Given the description of an element on the screen output the (x, y) to click on. 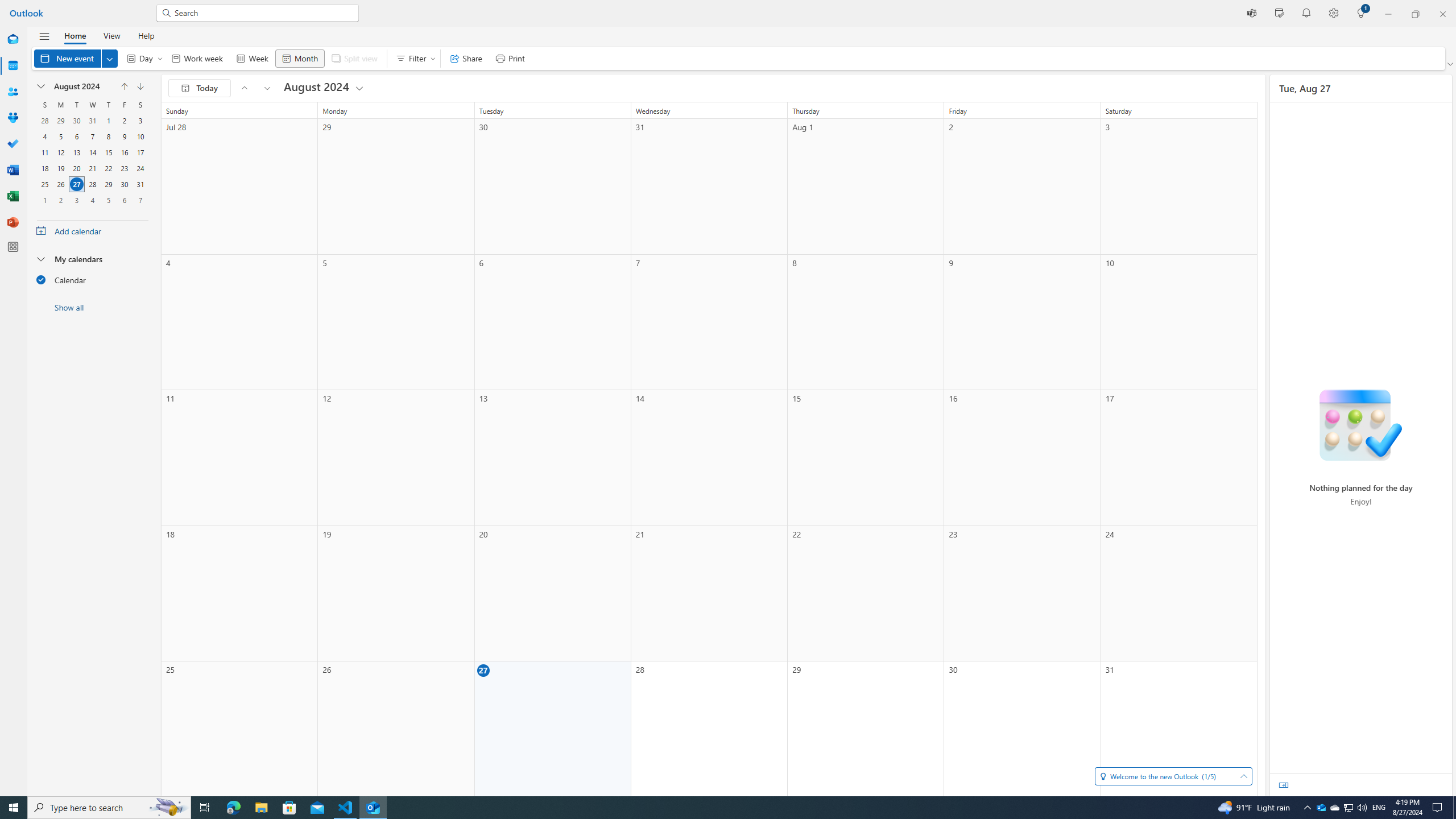
Microsoft Outlook (1347, 807)
System (1320, 807)
Type here to search (6, 6)
Search highlights icon opens search home window (108, 807)
File Explorer (167, 807)
Outlook (new) - 1 running window (261, 807)
User Promoted Notification Area (373, 807)
Task View (1347, 807)
Tray Input Indicator - English (United States) (204, 807)
Running applications (1378, 807)
System (1333, 807)
